Given the description of an element on the screen output the (x, y) to click on. 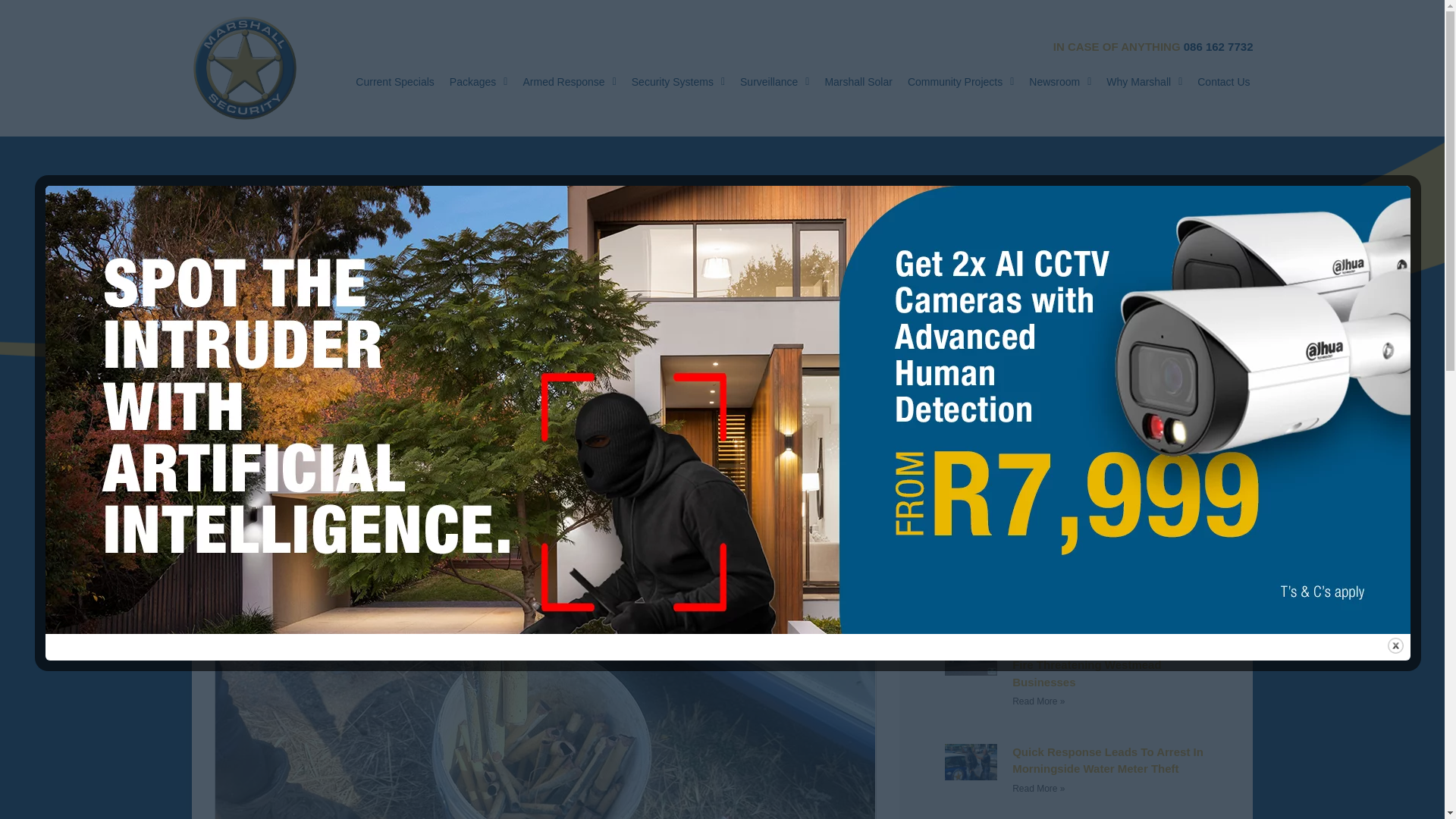
Marshall Solar (858, 81)
Security Systems (678, 81)
Packages (478, 81)
Surveillance (774, 81)
Newsroom (1060, 81)
086 162 7732 (1218, 46)
Close (1395, 644)
Current Specials (395, 81)
Community Projects (960, 81)
Why Marshall (1144, 81)
